Given the description of an element on the screen output the (x, y) to click on. 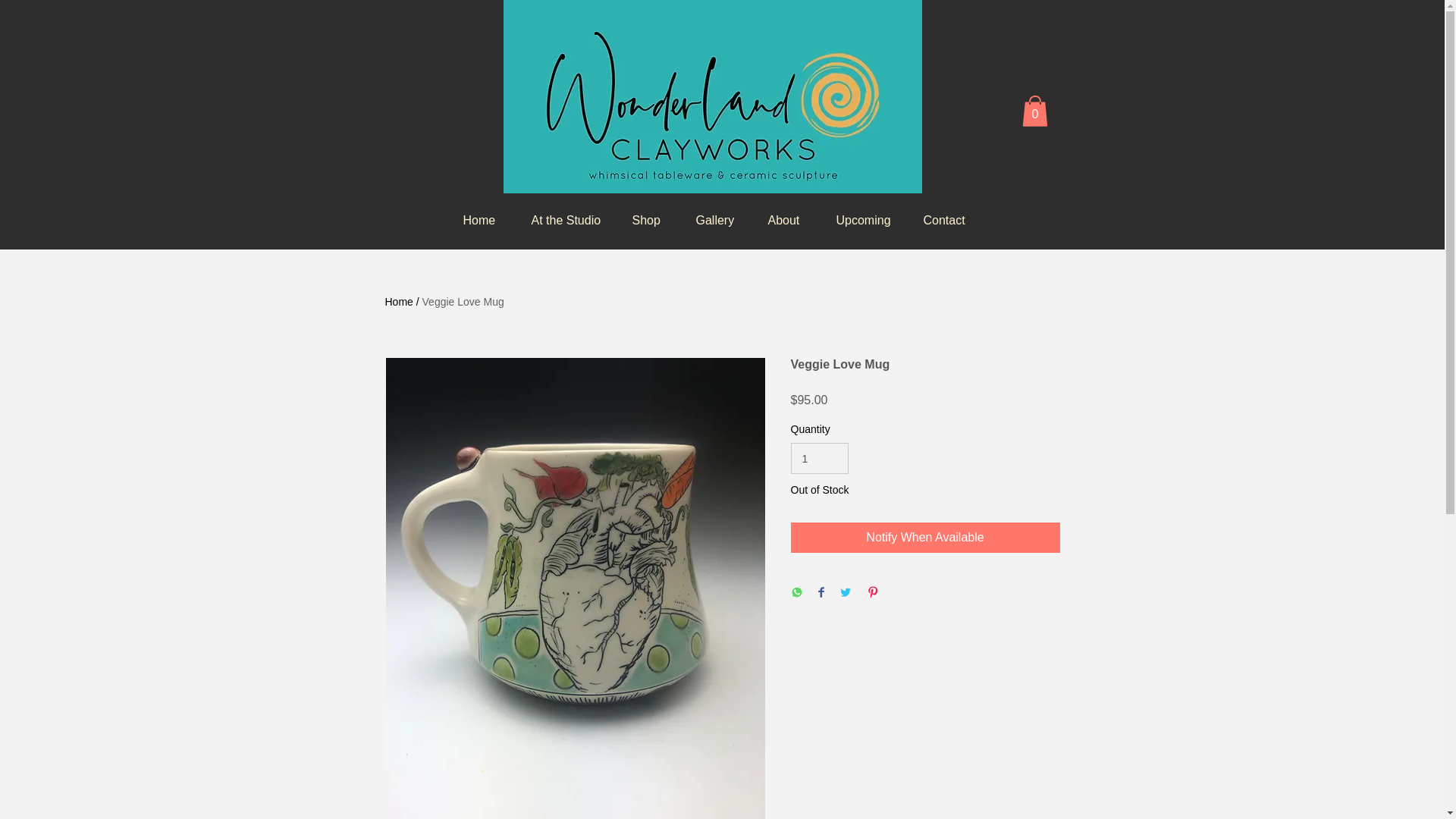
Notify When Available (924, 537)
0 (1035, 110)
At the Studio (562, 220)
1 (818, 458)
0 (1035, 110)
Upcoming (860, 220)
Contact (941, 220)
Gallery (712, 220)
Home (478, 220)
About (782, 220)
Home (399, 301)
Veggie Love Mug (462, 301)
Shop (644, 220)
